Given the description of an element on the screen output the (x, y) to click on. 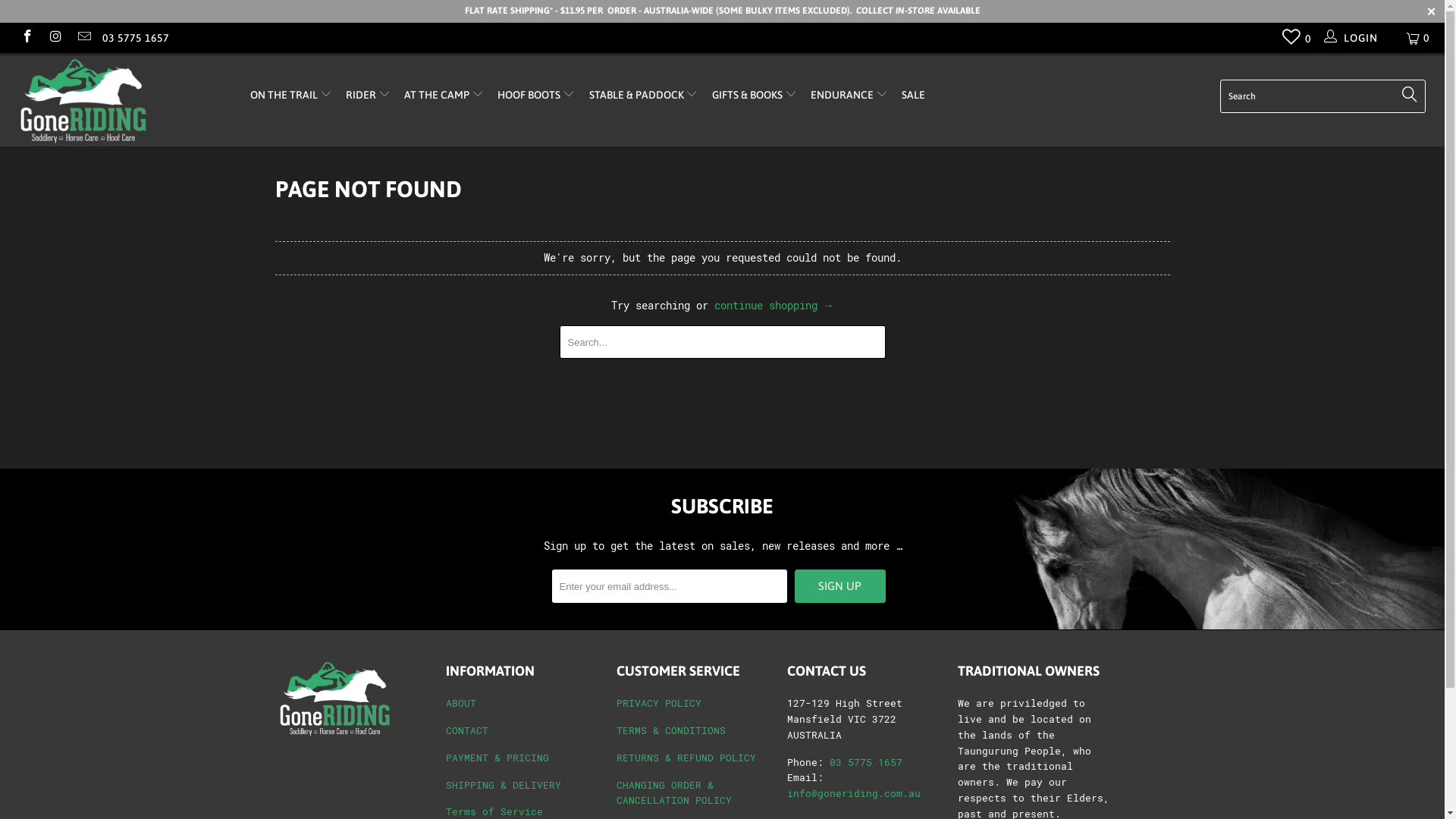
PAYMENT & PRICING Element type: text (497, 757)
ENDURANCE Element type: text (849, 94)
RETURNS & REFUND POLICY Element type: text (685, 757)
info@goneriding.com.au Element type: text (853, 793)
Gone RIDING Element type: hover (123, 100)
Gone RIDING on Facebook Element type: hover (26, 37)
STABLE & PADDOCK Element type: text (643, 94)
AT THE CAMP Element type: text (443, 94)
Email Gone RIDING Element type: hover (83, 37)
PRIVACY POLICY Element type: text (657, 703)
03 5775 1657 Element type: text (865, 762)
03 5775 1657 Element type: text (135, 37)
ON THE TRAIL Element type: text (291, 94)
LOGIN Element type: text (1352, 37)
0 Element type: text (1418, 37)
RIDER Element type: text (367, 94)
HOOF BOOTS Element type: text (535, 94)
GIFTS & BOOKS Element type: text (754, 94)
SALE Element type: text (913, 94)
CONTACT Element type: text (466, 730)
Gone RIDING on Instagram Element type: hover (54, 37)
Terms of Service Element type: text (493, 811)
WISHLIST (
0
) Element type: text (1291, 40)
Sign Up Element type: text (839, 585)
TERMS & CONDITIONS Element type: text (669, 730)
SHIPPING & DELIVERY Element type: text (503, 784)
ABOUT Element type: text (460, 703)
CHANGING ORDER & CANCELLATION POLICY Element type: text (673, 792)
